Given the description of an element on the screen output the (x, y) to click on. 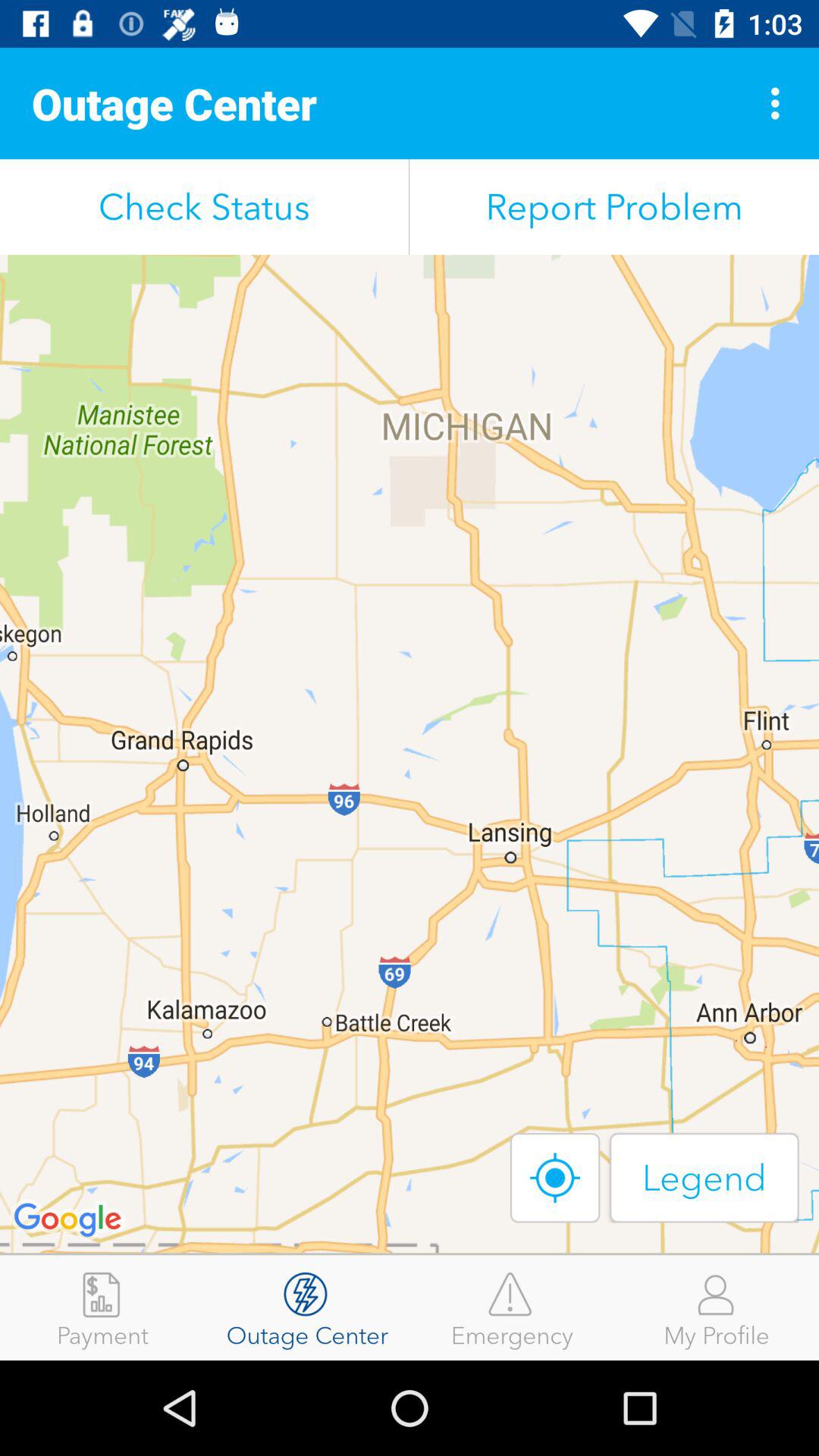
turn off icon to the right of outage center (511, 1307)
